Given the description of an element on the screen output the (x, y) to click on. 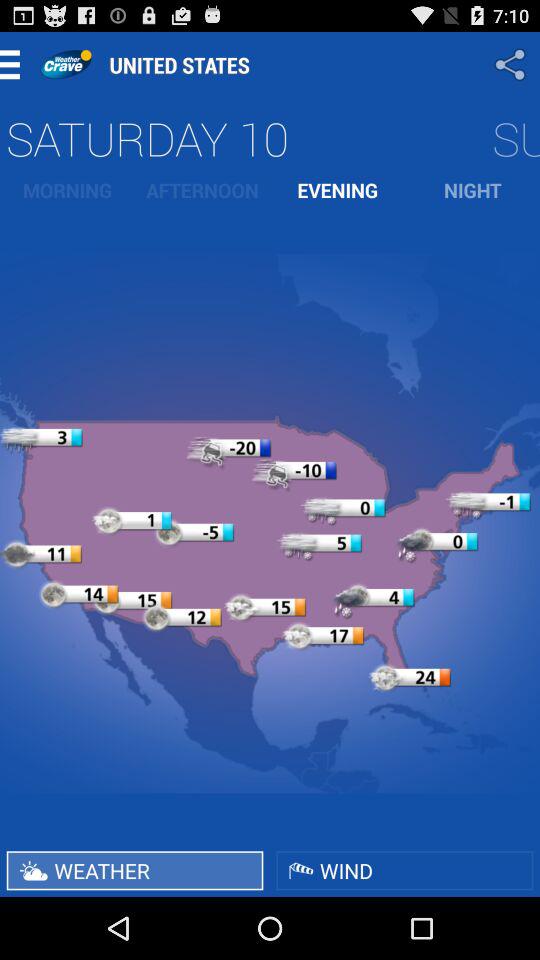
scroll to the weather icon (134, 870)
